Given the description of an element on the screen output the (x, y) to click on. 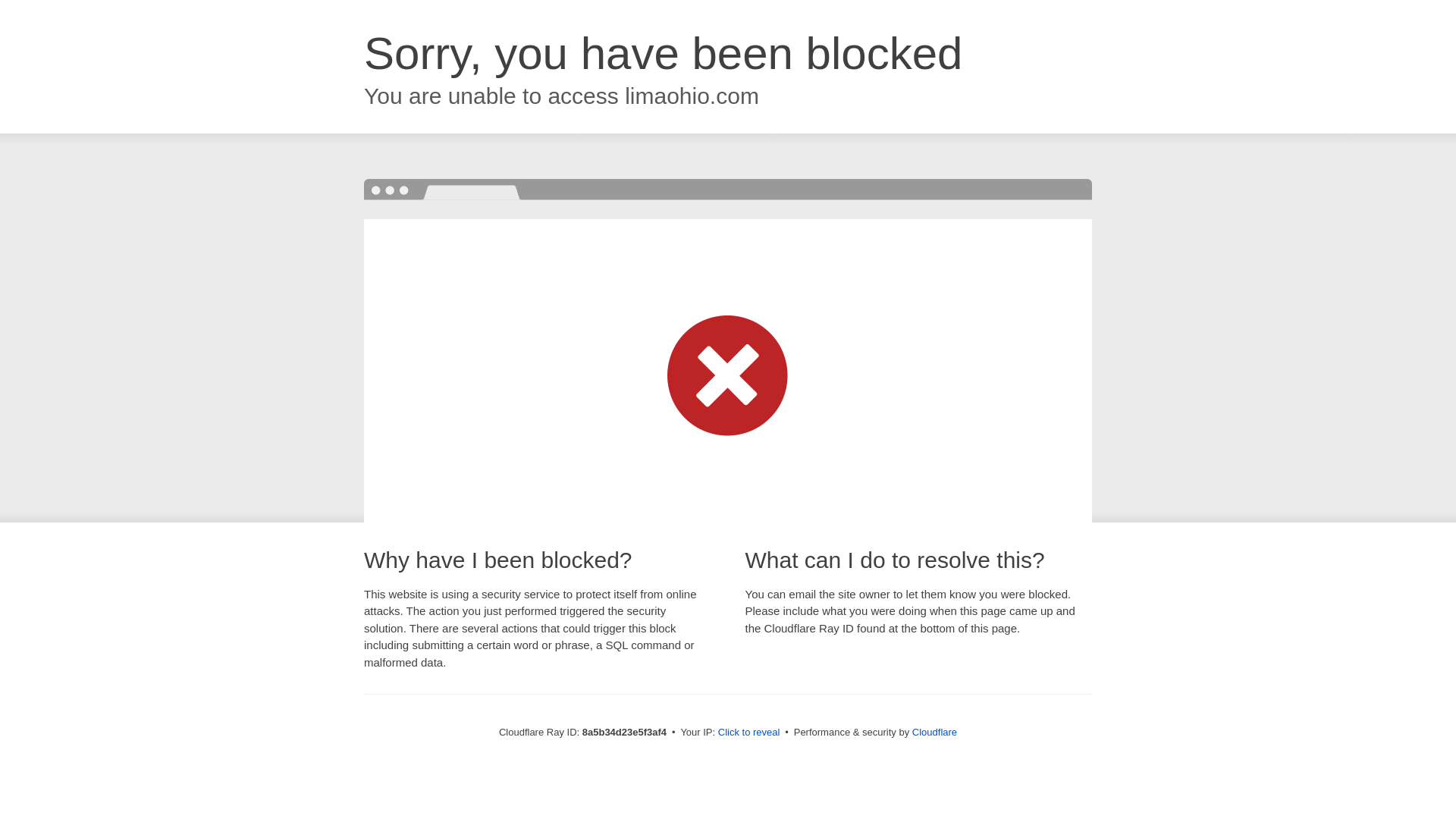
Click to reveal (748, 732)
Cloudflare (934, 731)
